Given the description of an element on the screen output the (x, y) to click on. 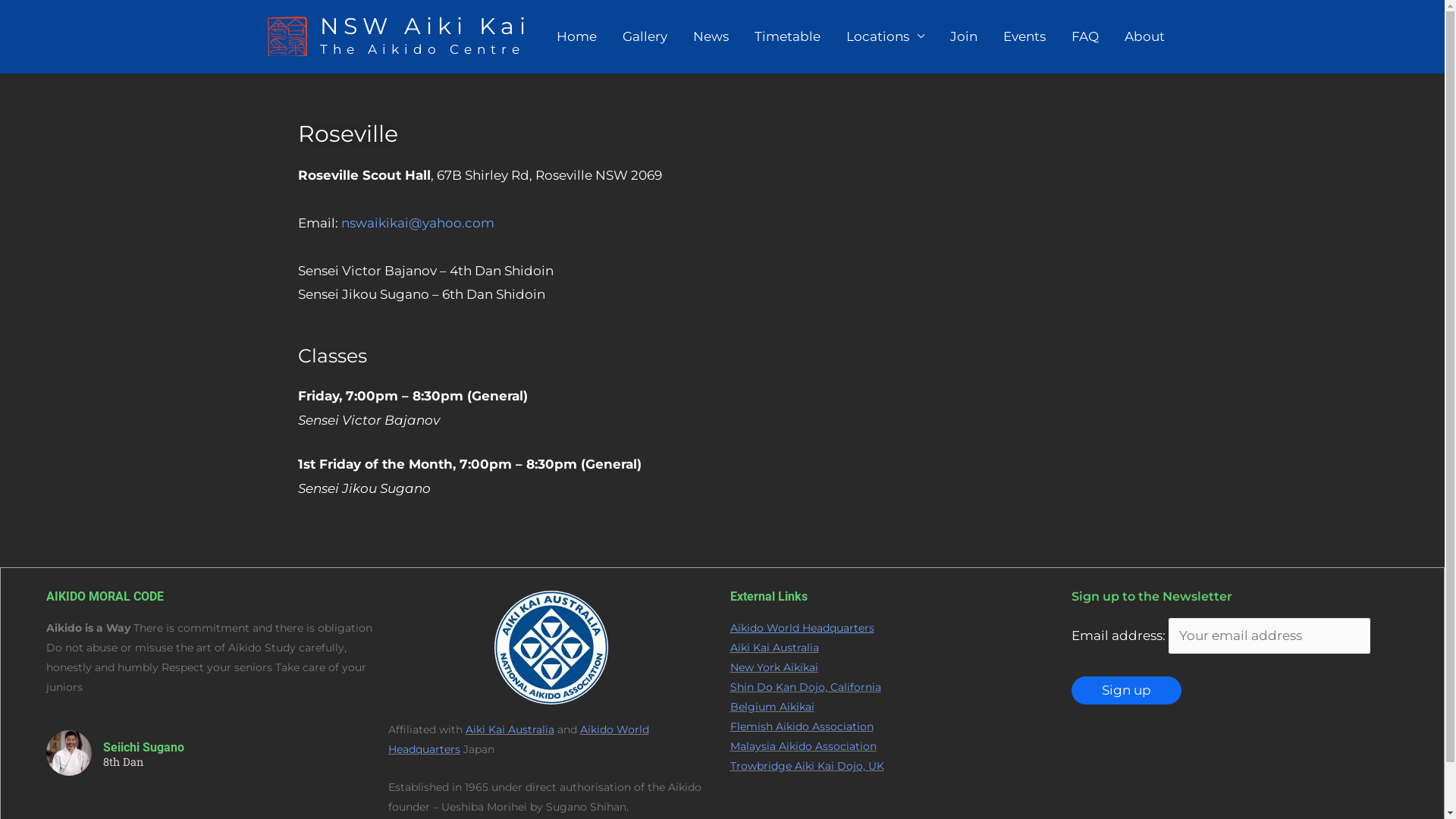
Trowbridge Aiki Kai Dojo, UK Element type: text (806, 765)
67B Shirley Rd, Roseville NSW 2069 Element type: hover (937, 231)
Timetable Element type: text (787, 36)
Home Element type: text (575, 36)
Join Element type: text (963, 36)
Flemish Aikido Association Element type: text (800, 726)
Events Element type: text (1024, 36)
Aiki Kai Australia Element type: text (773, 647)
Shin Do Kan Dojo, California Element type: text (804, 686)
FAQ Element type: text (1084, 36)
Malaysia Aikido Association Element type: text (802, 746)
nswaikikai@yahoo.com Element type: text (417, 222)
Locations Element type: text (884, 36)
Sign up Element type: text (1126, 690)
NSW Aiki Kai Element type: text (425, 26)
Aikido World Headquarters Element type: text (518, 739)
New York Aikikai Element type: text (773, 667)
About Element type: text (1144, 36)
Aikido World Headquarters Element type: text (801, 627)
Gallery Element type: text (644, 36)
Belgium Aikikai Element type: text (771, 706)
Aiki Kai Australia Element type: text (509, 729)
News Element type: text (709, 36)
